Given the description of an element on the screen output the (x, y) to click on. 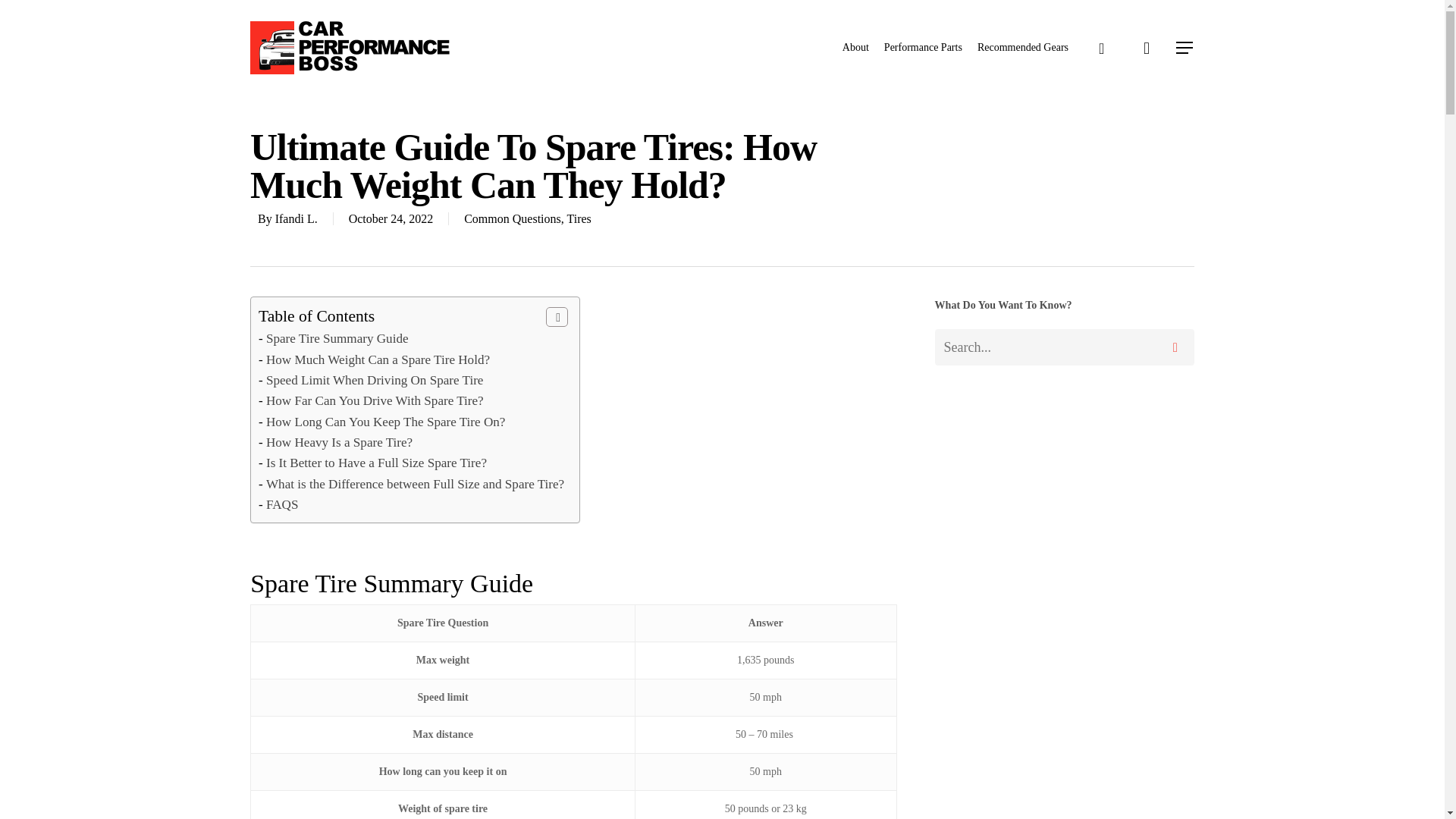
FAQS (282, 504)
Tires (578, 218)
How Heavy Is a Spare Tire? (339, 441)
How Long Can You Keep The Spare Tire On? (385, 421)
How Far Can You Drive With Spare Tire? (374, 400)
Is It Better to Have a Full Size Spare Tire? (376, 462)
How Much Weight Can a Spare Tire Hold? (377, 359)
Performance Parts (922, 47)
Common Questions (512, 218)
How Much Weight Can a Spare Tire Hold? (377, 359)
